Given the description of an element on the screen output the (x, y) to click on. 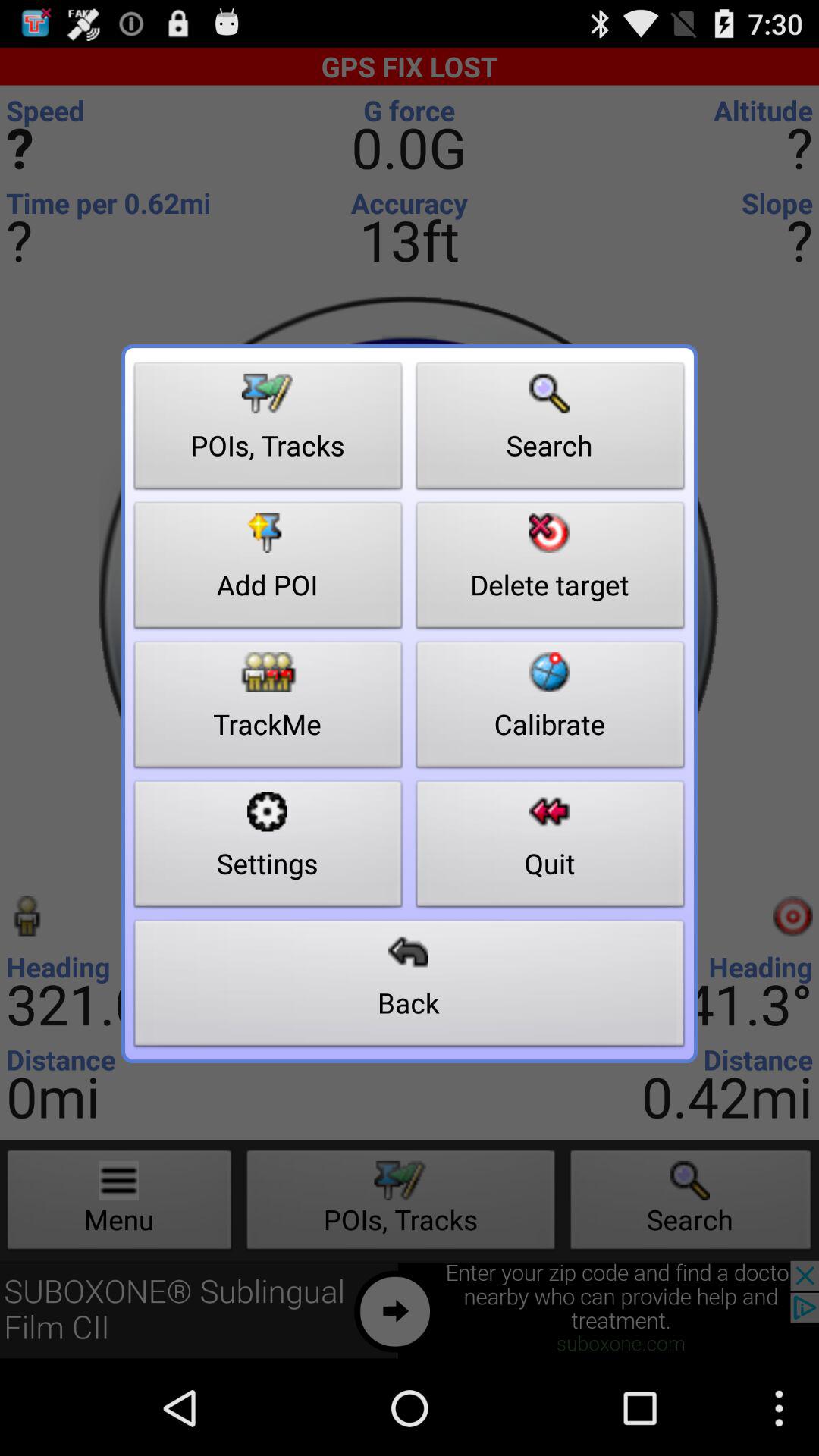
choose add poi (268, 569)
